Given the description of an element on the screen output the (x, y) to click on. 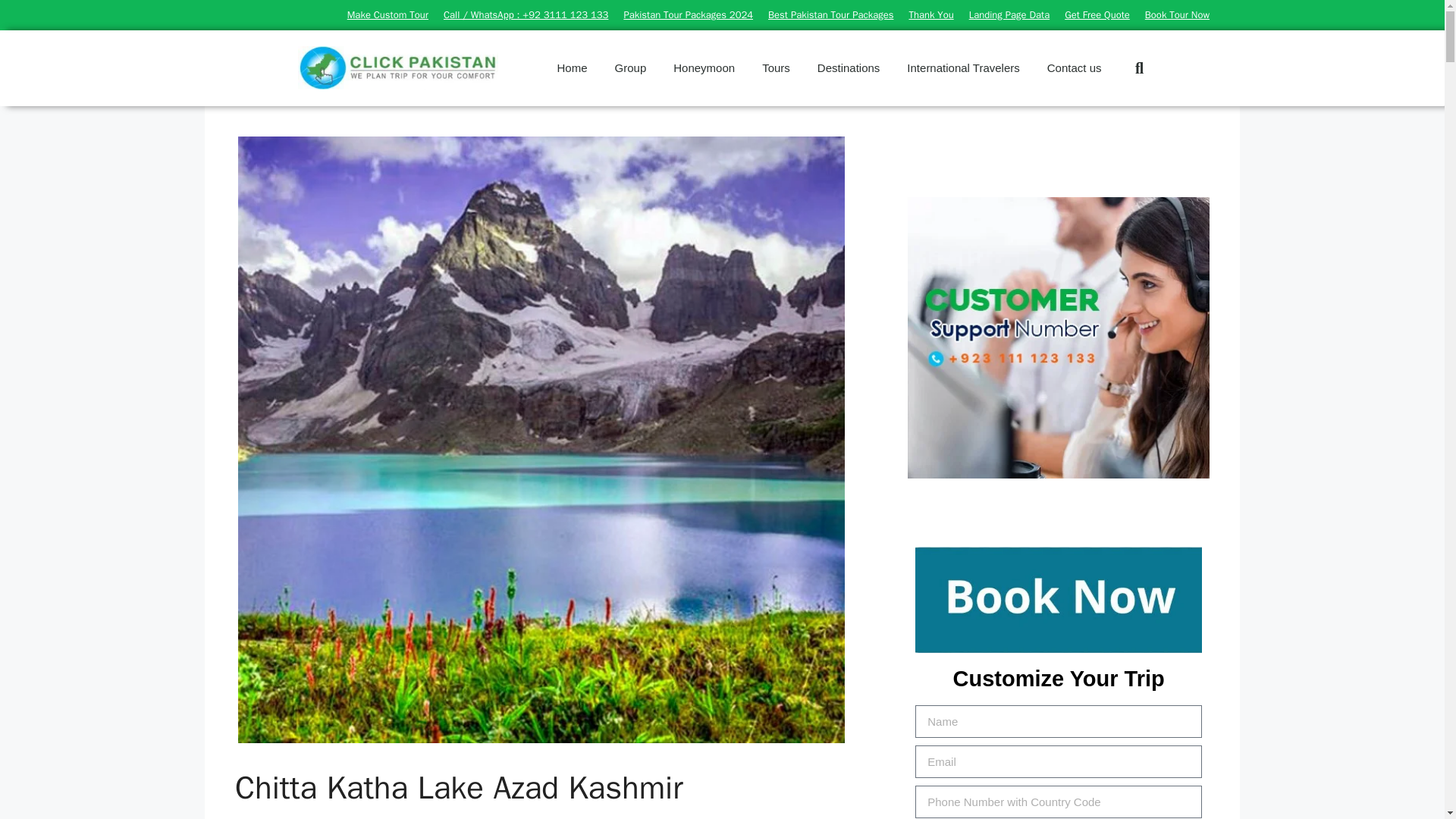
Pakistan Tour Packages 2024 (687, 14)
Landing Page Data (1009, 14)
Get Free Quote (1096, 14)
Contact us (1074, 68)
Honeymoon (703, 68)
Thank You (930, 14)
Destinations (848, 68)
Best Pakistan Tour Packages (830, 14)
Book Tour Now (1176, 14)
International Travelers (962, 68)
Make Custom Tour (387, 14)
